Given the description of an element on the screen output the (x, y) to click on. 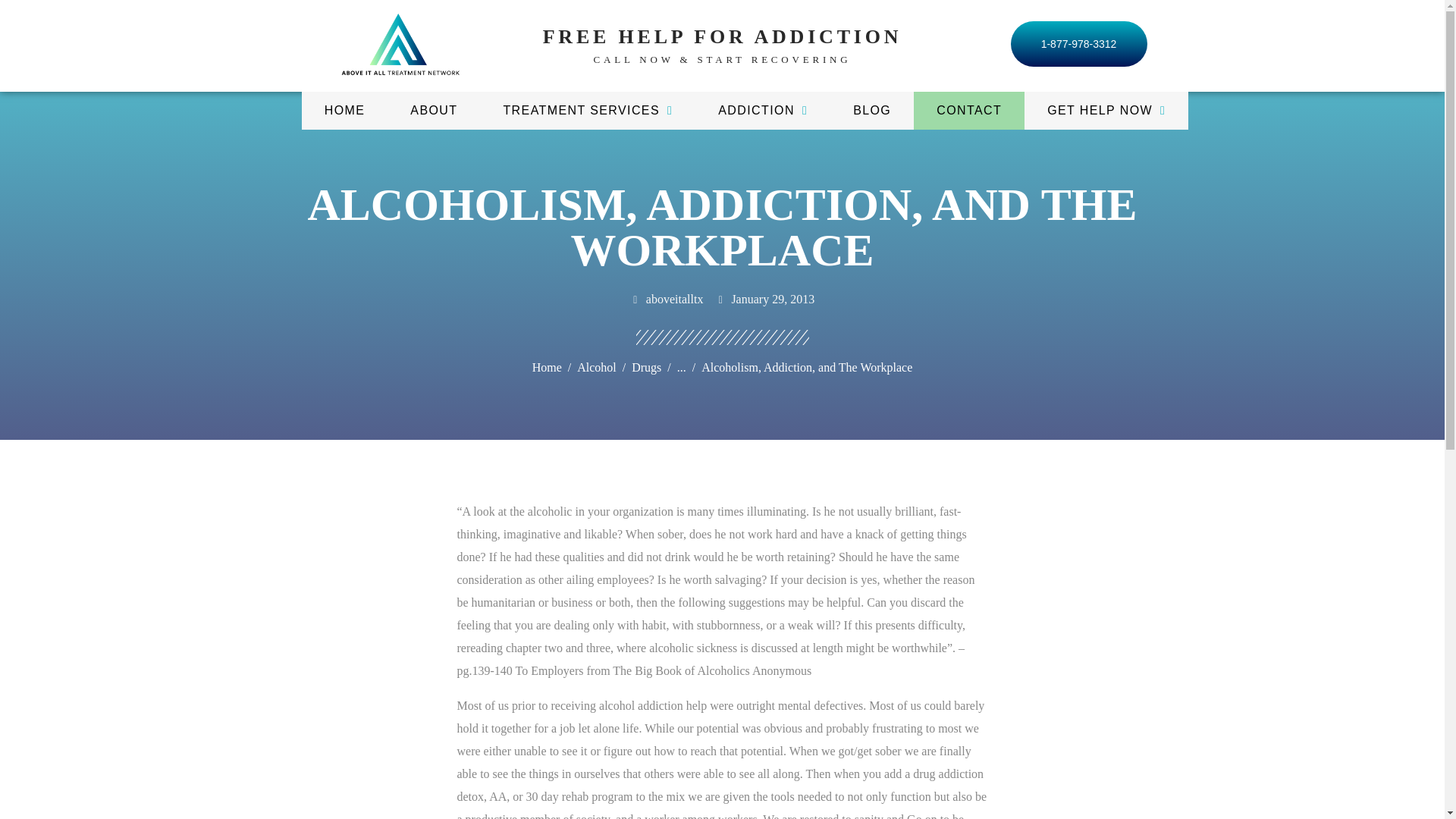
GET HELP NOW (1106, 110)
Alcohol (595, 367)
HOME (344, 110)
1-877-978-3312 (1078, 43)
ADDICTION (762, 110)
ABOUT (433, 110)
January 29, 2013 (763, 299)
CONTACT (969, 110)
BLOG (871, 110)
TREATMENT SERVICES (587, 110)
